Given the description of an element on the screen output the (x, y) to click on. 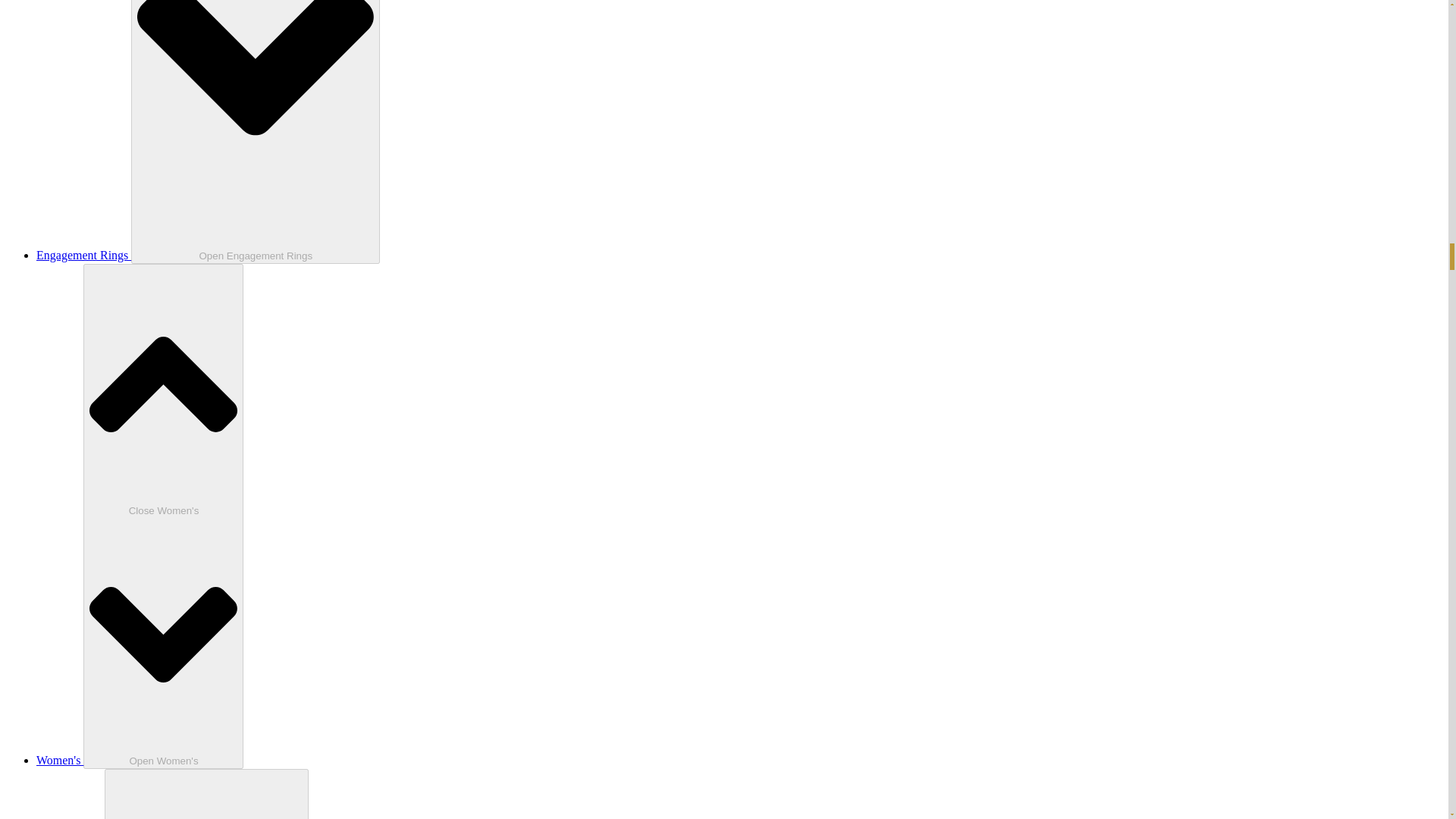
Close Engagement Rings Open Engagement Rings (255, 131)
Women's (59, 759)
Engagement Rings (83, 254)
Close Georg Jensen Open Georg Jensen (206, 794)
